Given the description of an element on the screen output the (x, y) to click on. 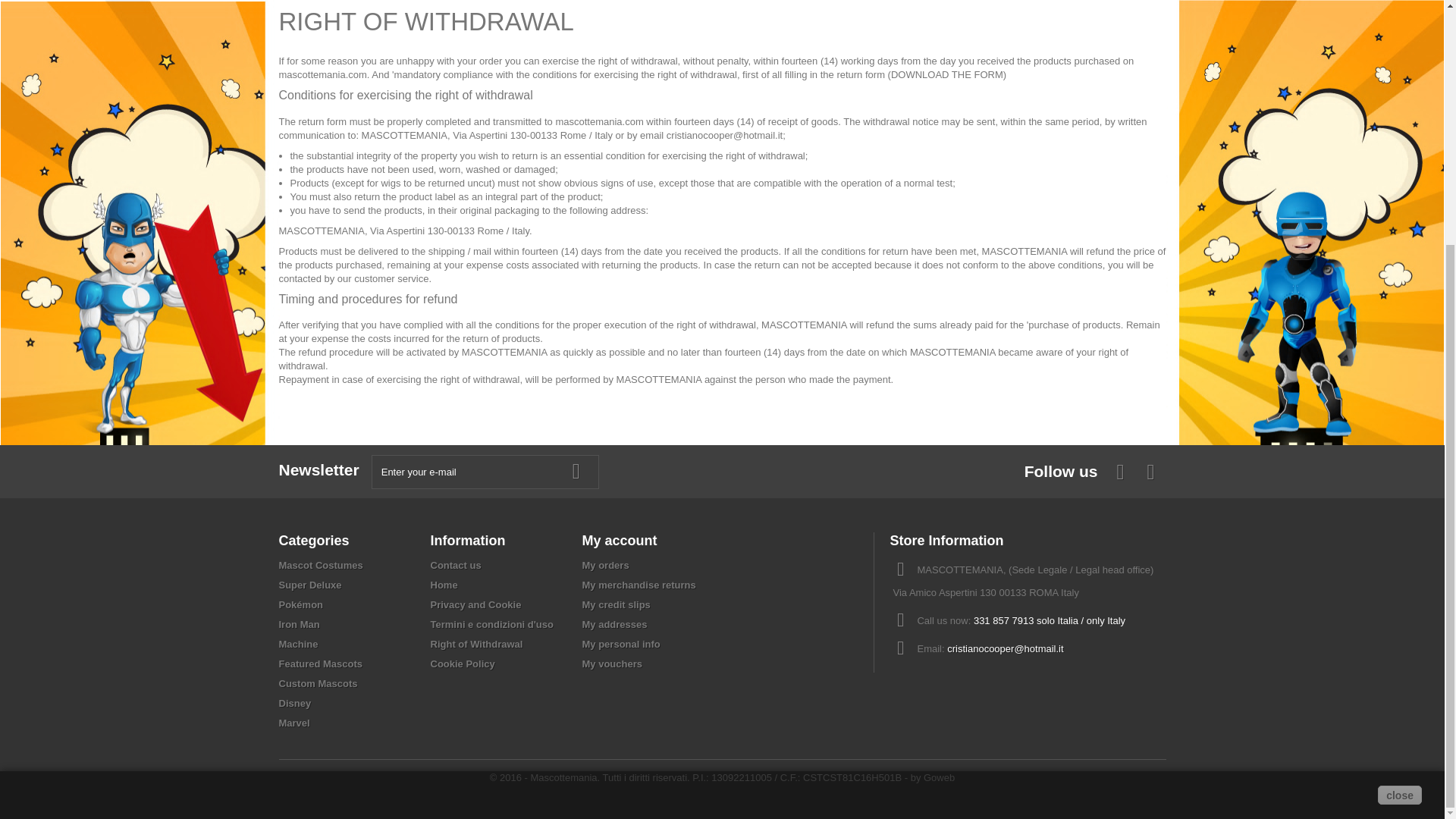
DOWNLOAD THE FORM (947, 74)
Marvel (294, 722)
Machine (298, 644)
Iron Man (299, 624)
Enter your e-mail (484, 471)
Super Deluxe (310, 584)
Disney (295, 703)
Custom Mascots (318, 683)
Featured Mascots (320, 663)
Mascot Costumes (320, 564)
